Given the description of an element on the screen output the (x, y) to click on. 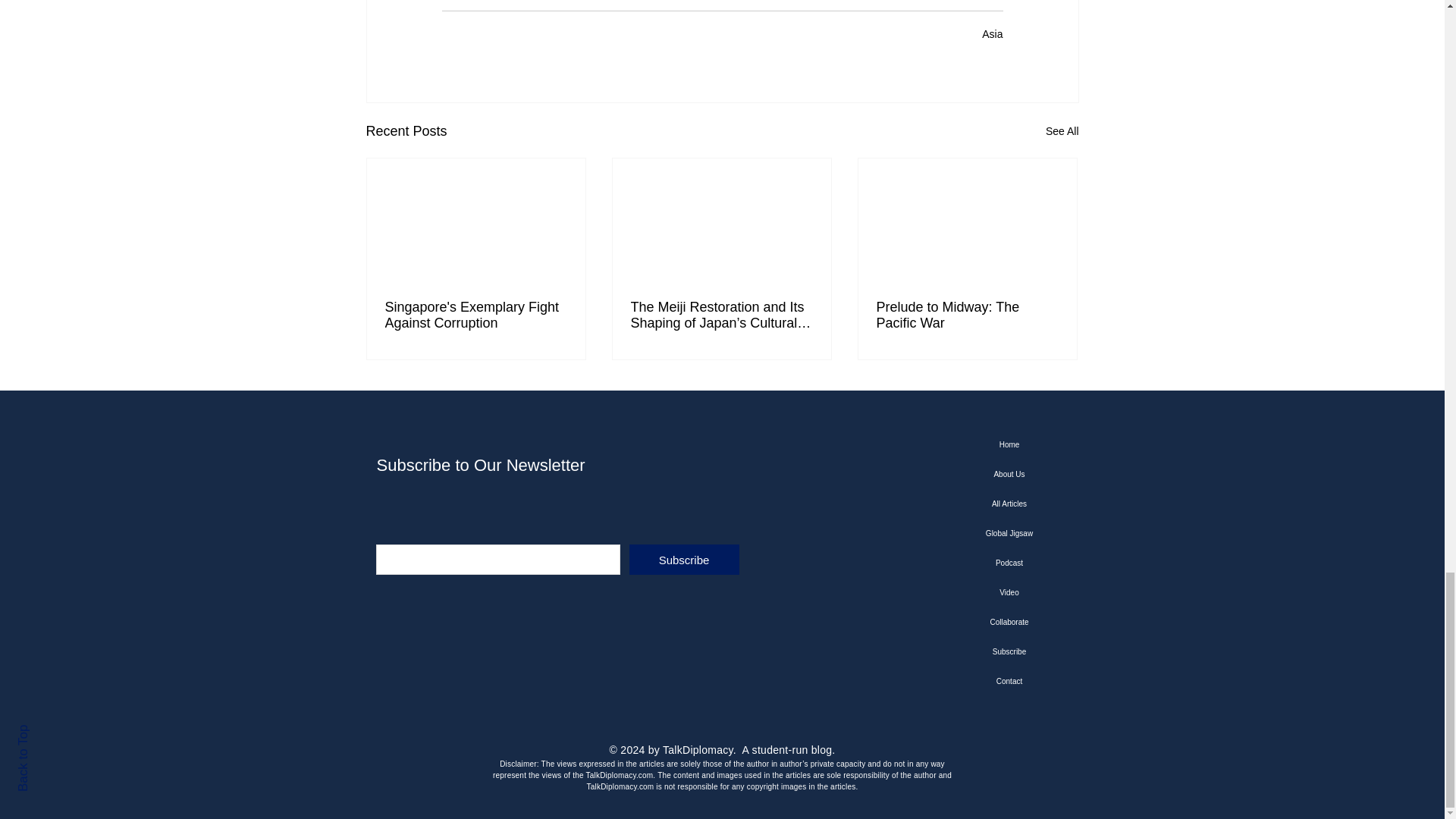
Prelude to Midway: The Pacific War (967, 315)
See All (1061, 131)
Singapore's Exemplary Fight Against Corruption (476, 315)
Asia (992, 33)
